Given the description of an element on the screen output the (x, y) to click on. 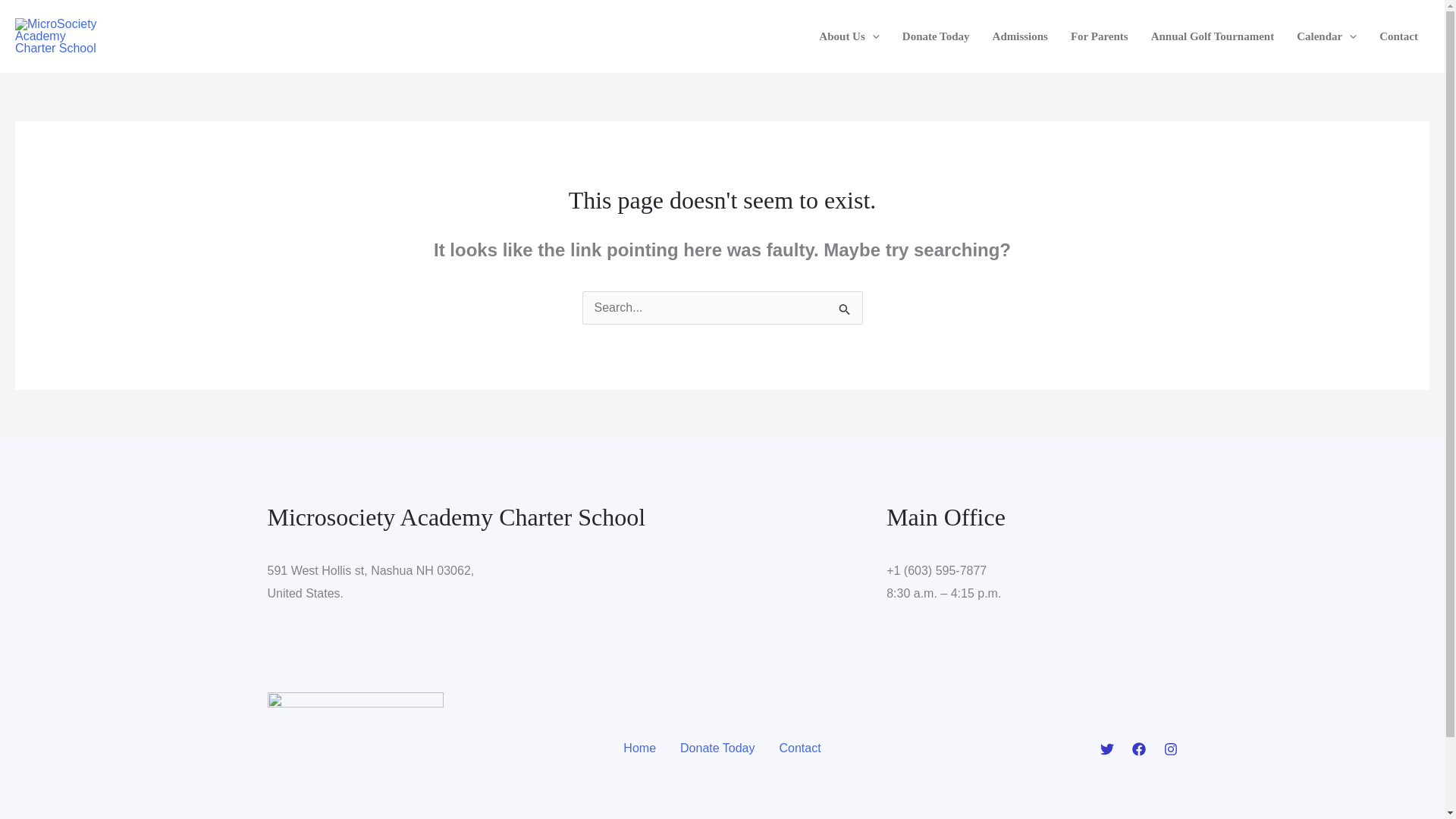
Admissions (1020, 36)
Donate Today (936, 36)
For Parents (1099, 36)
Calendar (1326, 36)
Annual Golf Tournament (1212, 36)
About Us (848, 36)
